Given the description of an element on the screen output the (x, y) to click on. 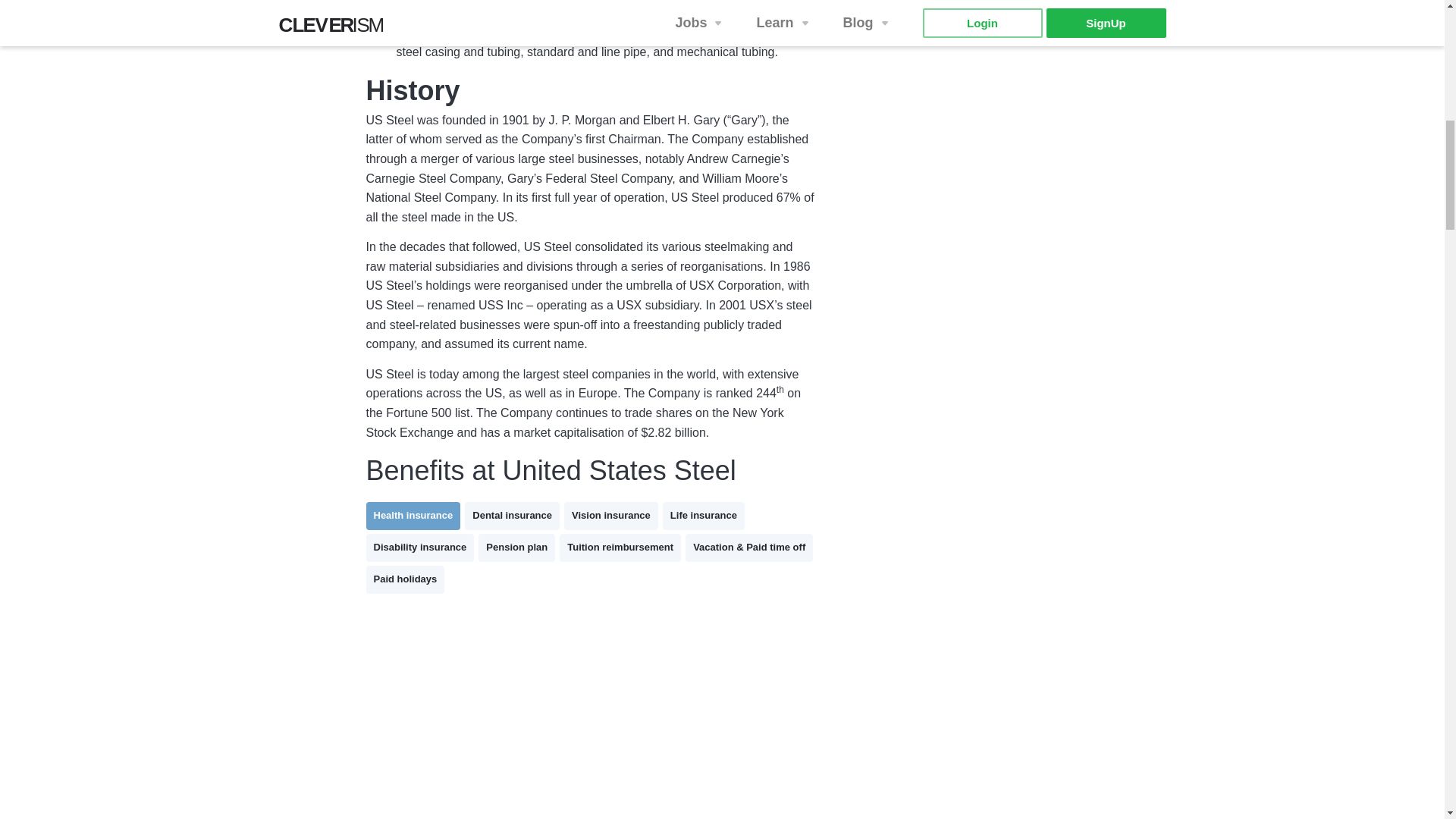
Pension plan (516, 547)
Tuition reimbursement (620, 547)
Life insurance (703, 515)
Disability insurance (419, 547)
Health insurance (412, 515)
Vision insurance (611, 515)
Dental insurance (511, 515)
Paid holidays (404, 579)
